Given the description of an element on the screen output the (x, y) to click on. 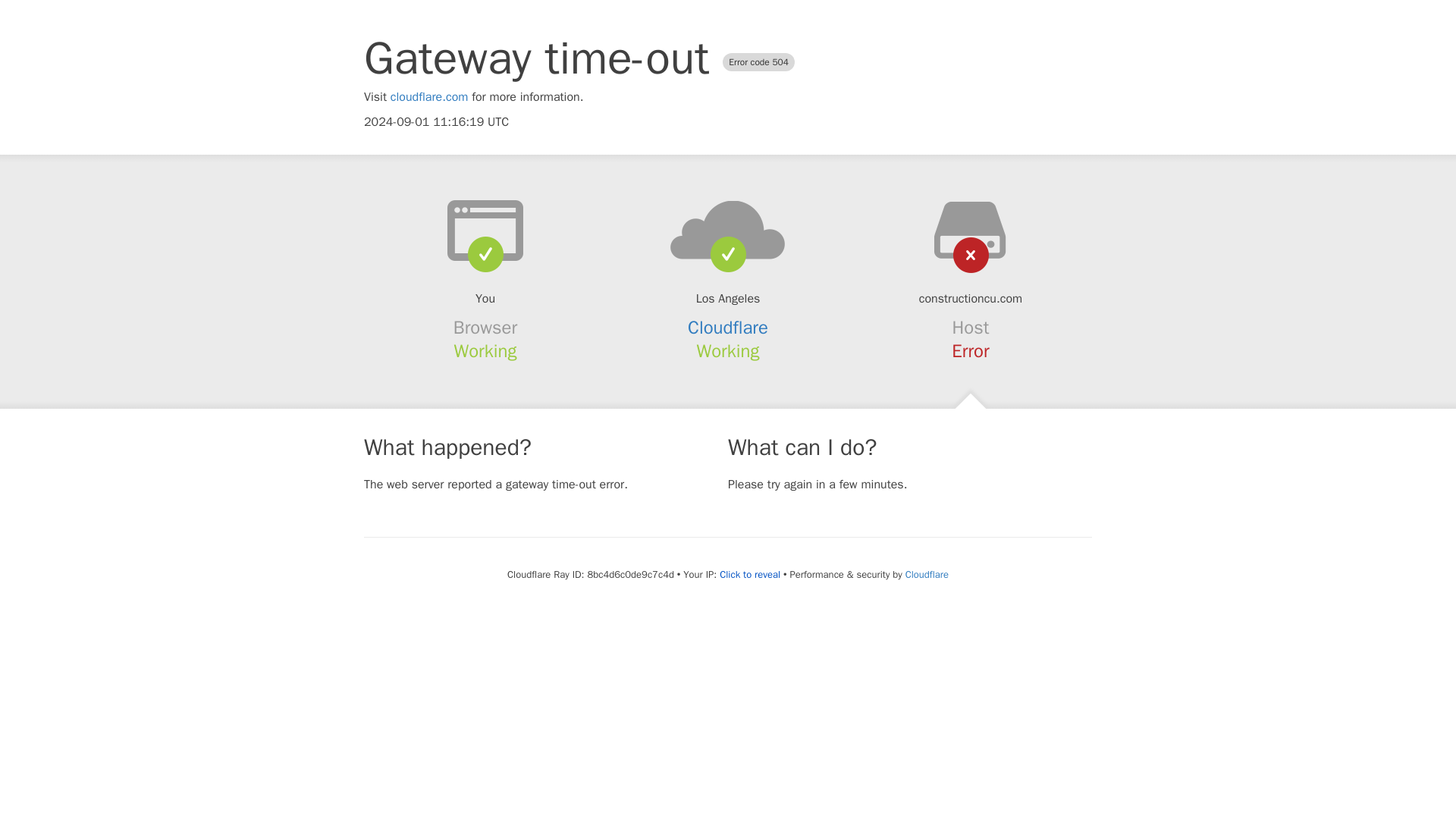
Cloudflare (927, 574)
Cloudflare (727, 327)
Click to reveal (749, 574)
cloudflare.com (429, 96)
